Given the description of an element on the screen output the (x, y) to click on. 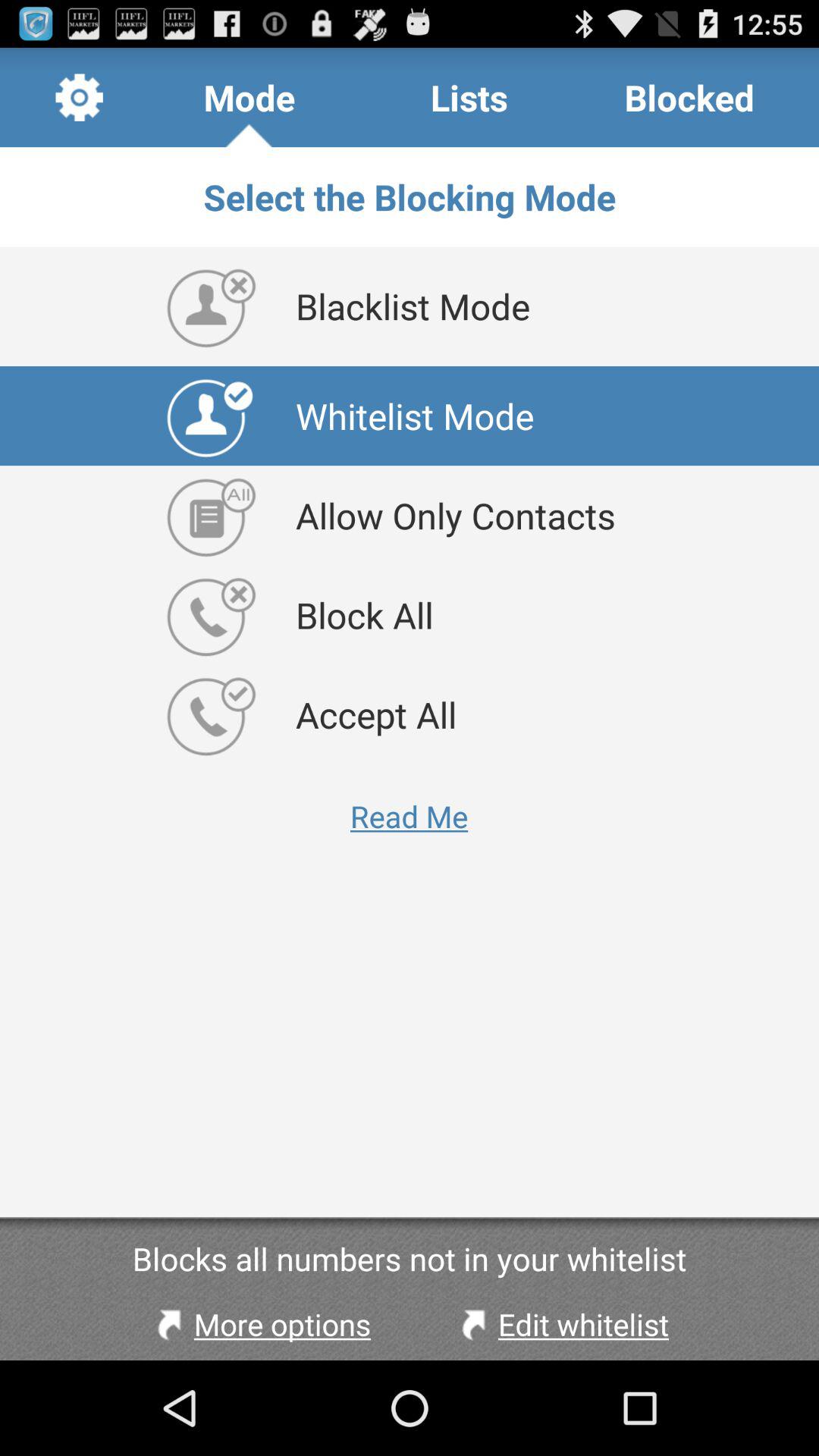
turn on icon to the left of mode app (79, 97)
